Given the description of an element on the screen output the (x, y) to click on. 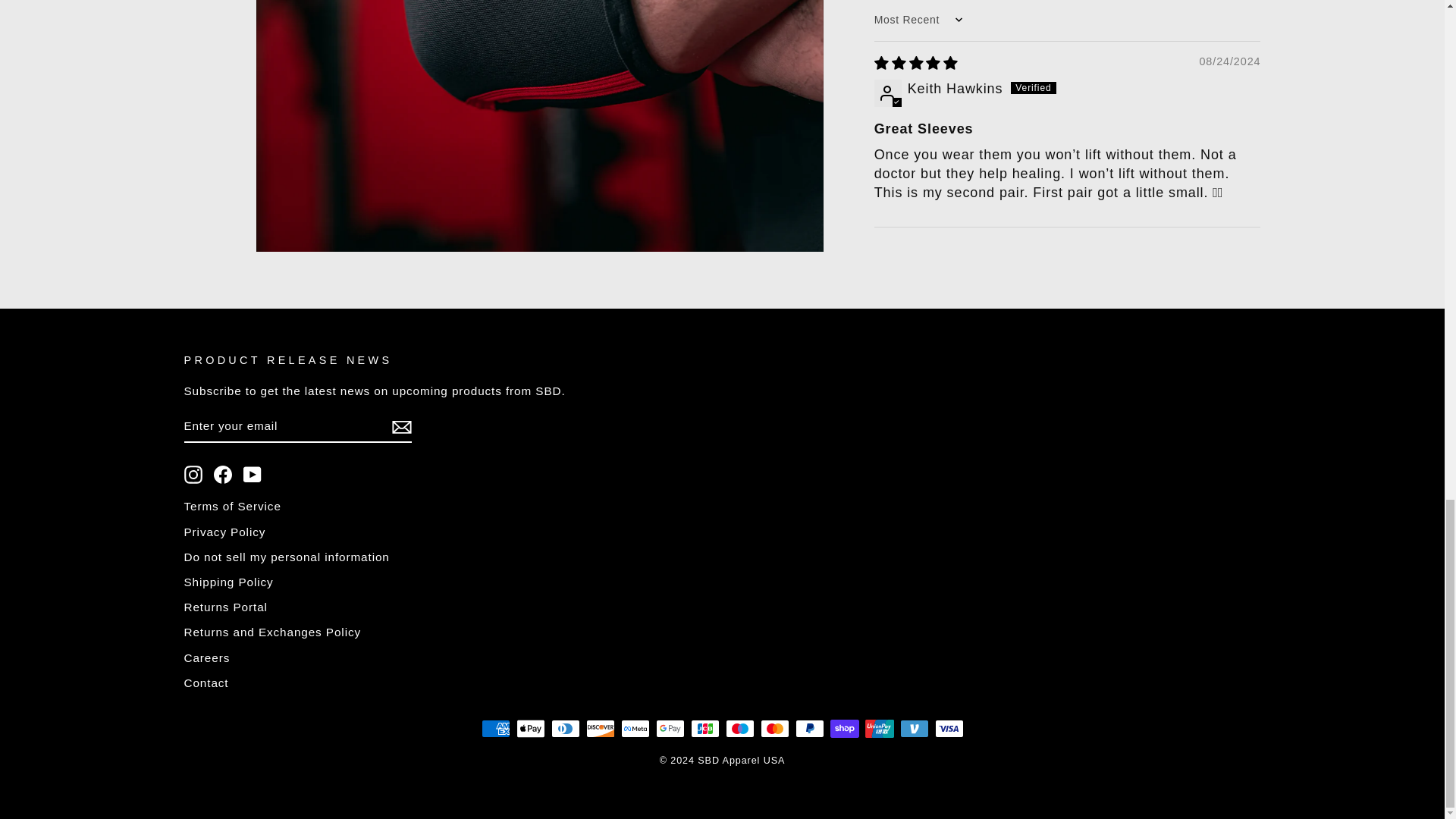
Diners Club (564, 728)
SBD Apparel USA on Instagram (192, 475)
Google Pay (669, 728)
instagram (192, 475)
SBD Apparel USA on Facebook (222, 475)
Meta Pay (634, 728)
American Express (494, 728)
Discover (599, 728)
JCB (704, 728)
Apple Pay (529, 728)
